Given the description of an element on the screen output the (x, y) to click on. 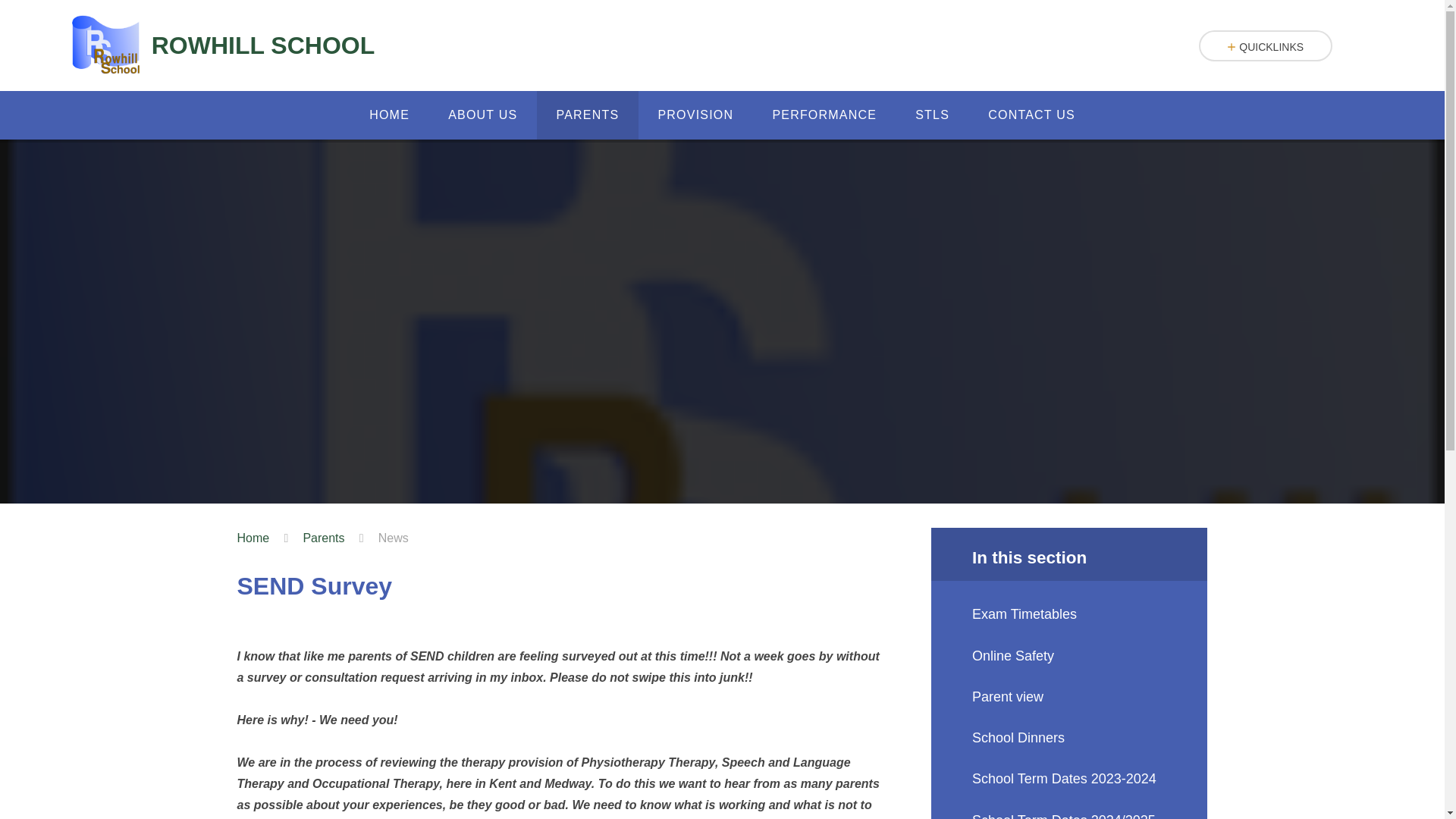
ABOUT US (483, 114)
ROWHILL SCHOOL (222, 45)
HOME (389, 114)
PARENTS (588, 114)
